Given the description of an element on the screen output the (x, y) to click on. 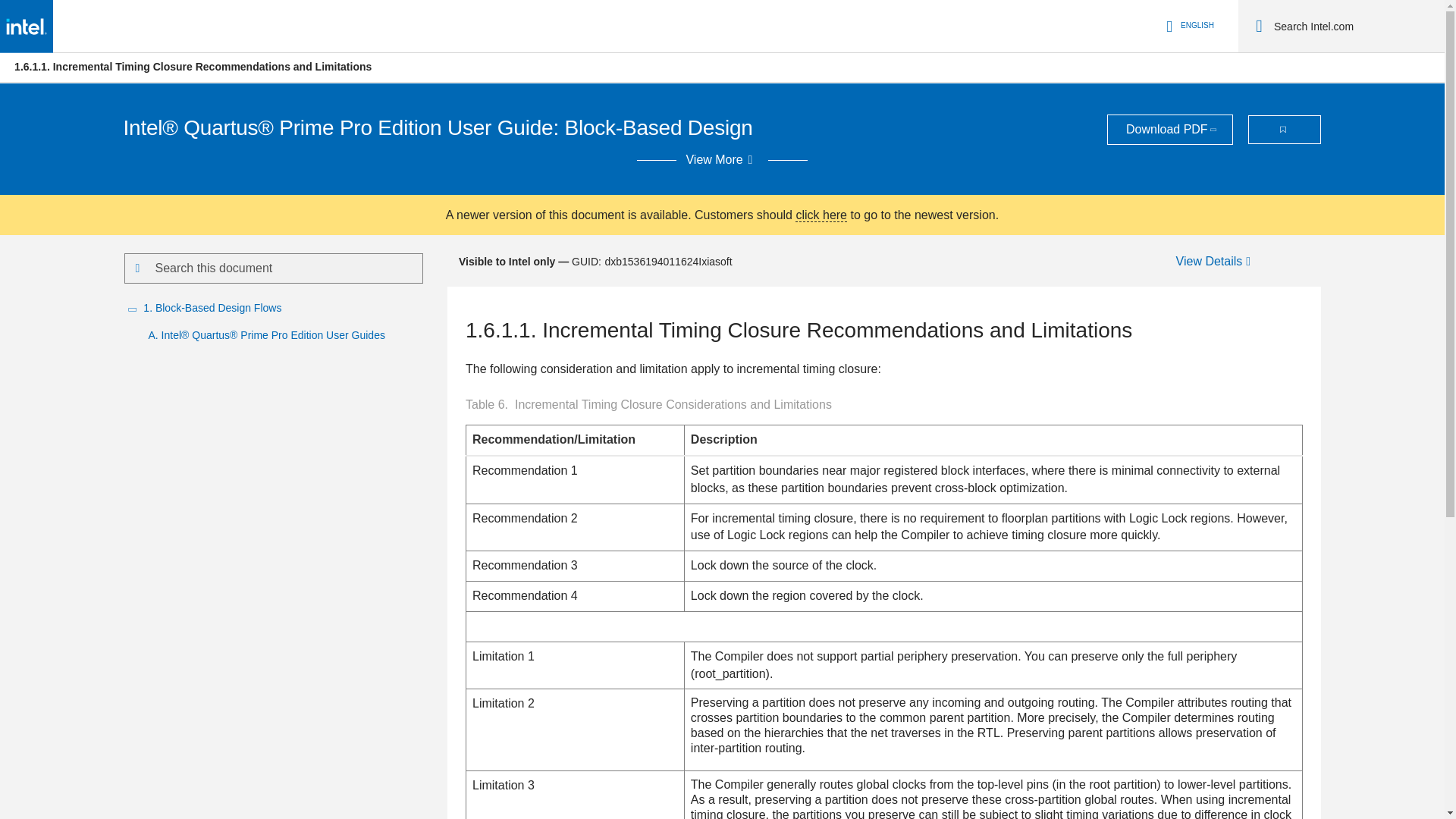
ENGLISH (1187, 26)
Search (1259, 26)
Language Selector (1187, 26)
